Given the description of an element on the screen output the (x, y) to click on. 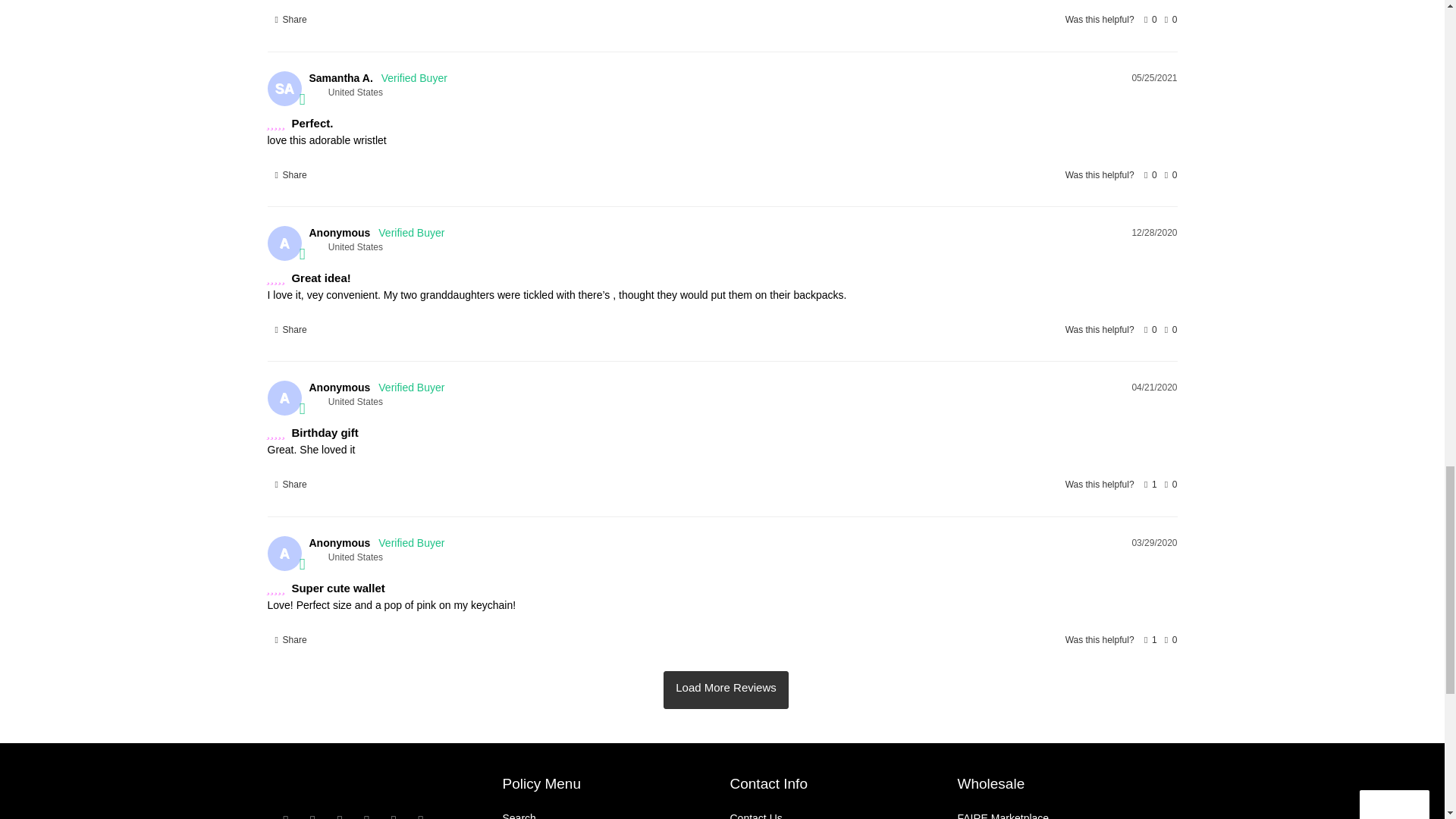
POLICY Handbags on Twitter (286, 816)
